Given the description of an element on the screen output the (x, y) to click on. 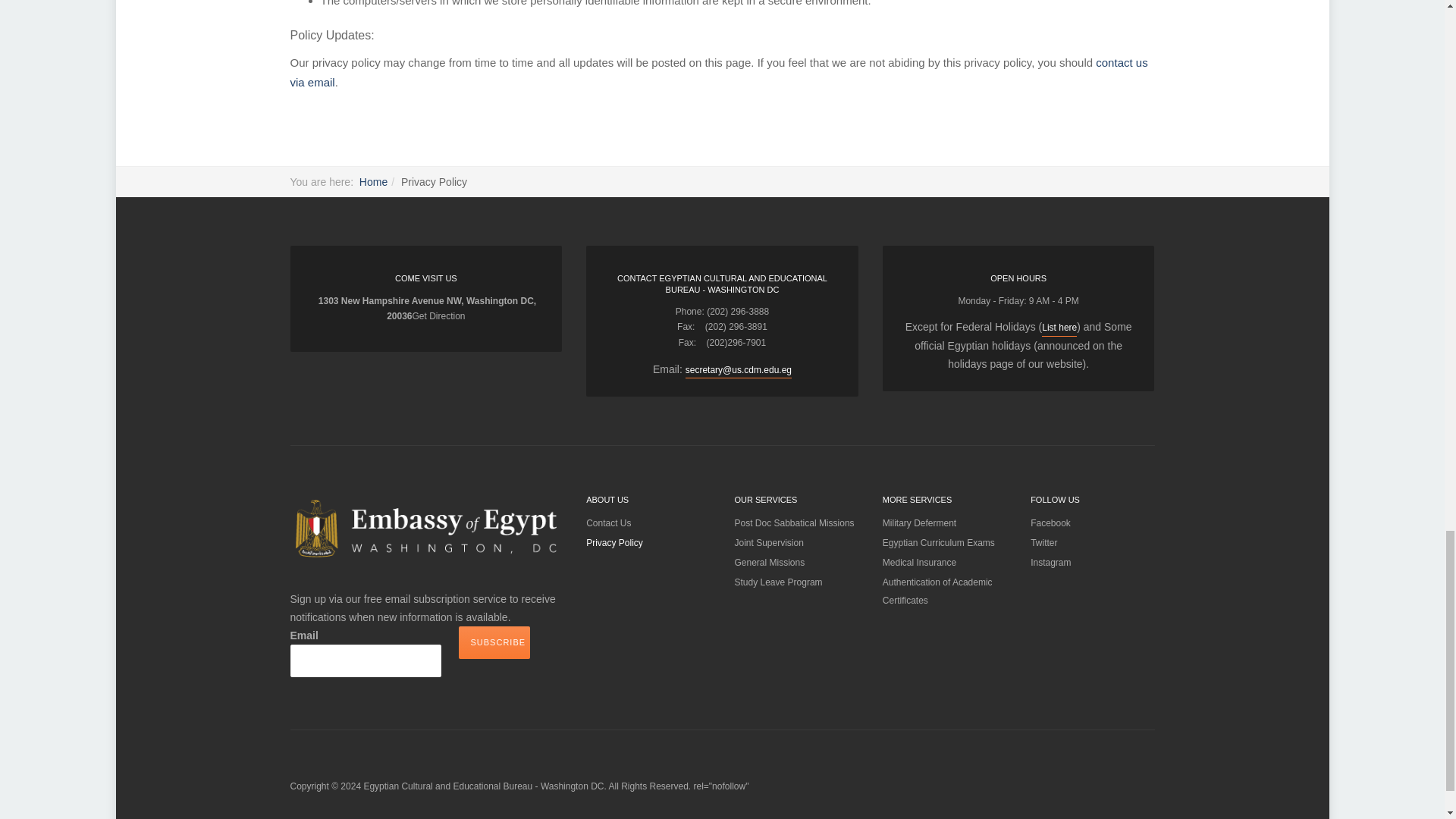
Subscribe (493, 642)
